Given the description of an element on the screen output the (x, y) to click on. 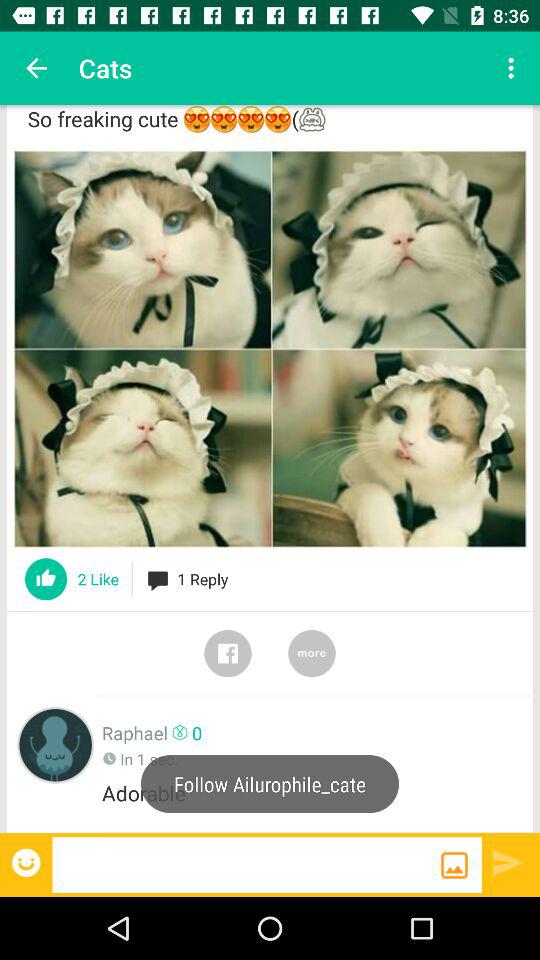
turn off the item above the so freaking cute item (36, 68)
